Given the description of an element on the screen output the (x, y) to click on. 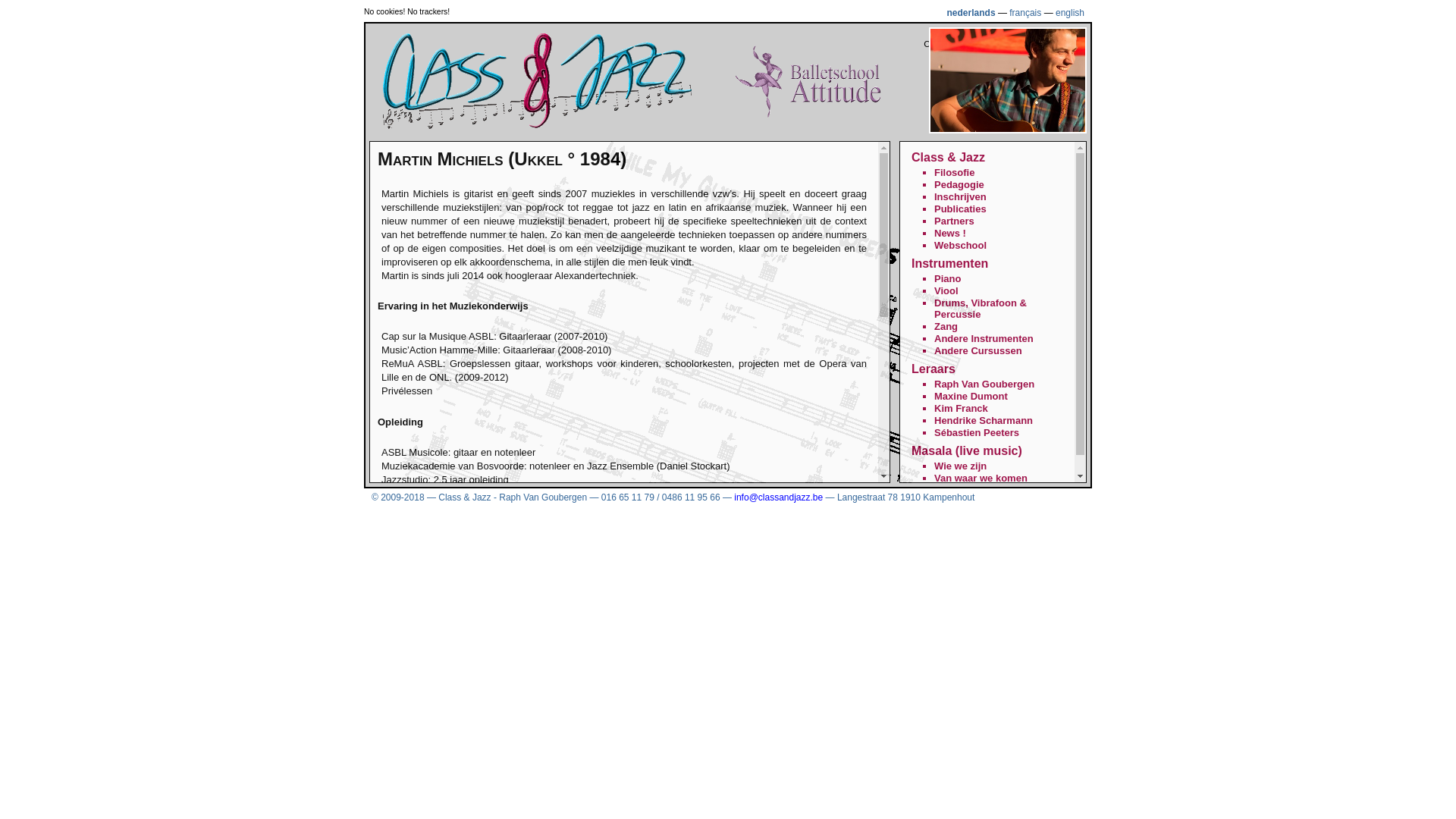
Andere Cursussen Element type: text (978, 350)
Hendrike Scharmann Element type: text (983, 420)
Leraars Element type: text (933, 368)
Kim Franck Element type: text (961, 408)
Class & Jazz Element type: text (948, 156)
Raph Van Goubergen Element type: text (984, 383)
Partners Element type: text (954, 220)
Viool Element type: text (946, 290)
english Element type: text (1069, 12)
info@classandjazz.be Element type: text (778, 497)
Drums, Vibrafoon & Percussie Element type: text (980, 308)
nederlands Element type: text (971, 12)
Balletschool Attitude Element type: hover (808, 115)
Filosofie Element type: text (954, 172)
Webschool Element type: text (960, 245)
Zang Element type: text (945, 326)
Publicaties Element type: text (960, 208)
Maxine Dumont Element type: text (970, 395)
Piano Element type: text (947, 278)
Pedagogie Element type: text (959, 184)
Andere Instrumenten Element type: text (983, 338)
Inschrijven Element type: text (960, 196)
Van waar we komen Element type: text (980, 477)
Wie we zijn Element type: text (960, 465)
Masala (live music) Element type: text (966, 450)
Instrumenten Element type: text (949, 263)
News ! Element type: text (950, 232)
Zien en horen Element type: text (966, 489)
